Given the description of an element on the screen output the (x, y) to click on. 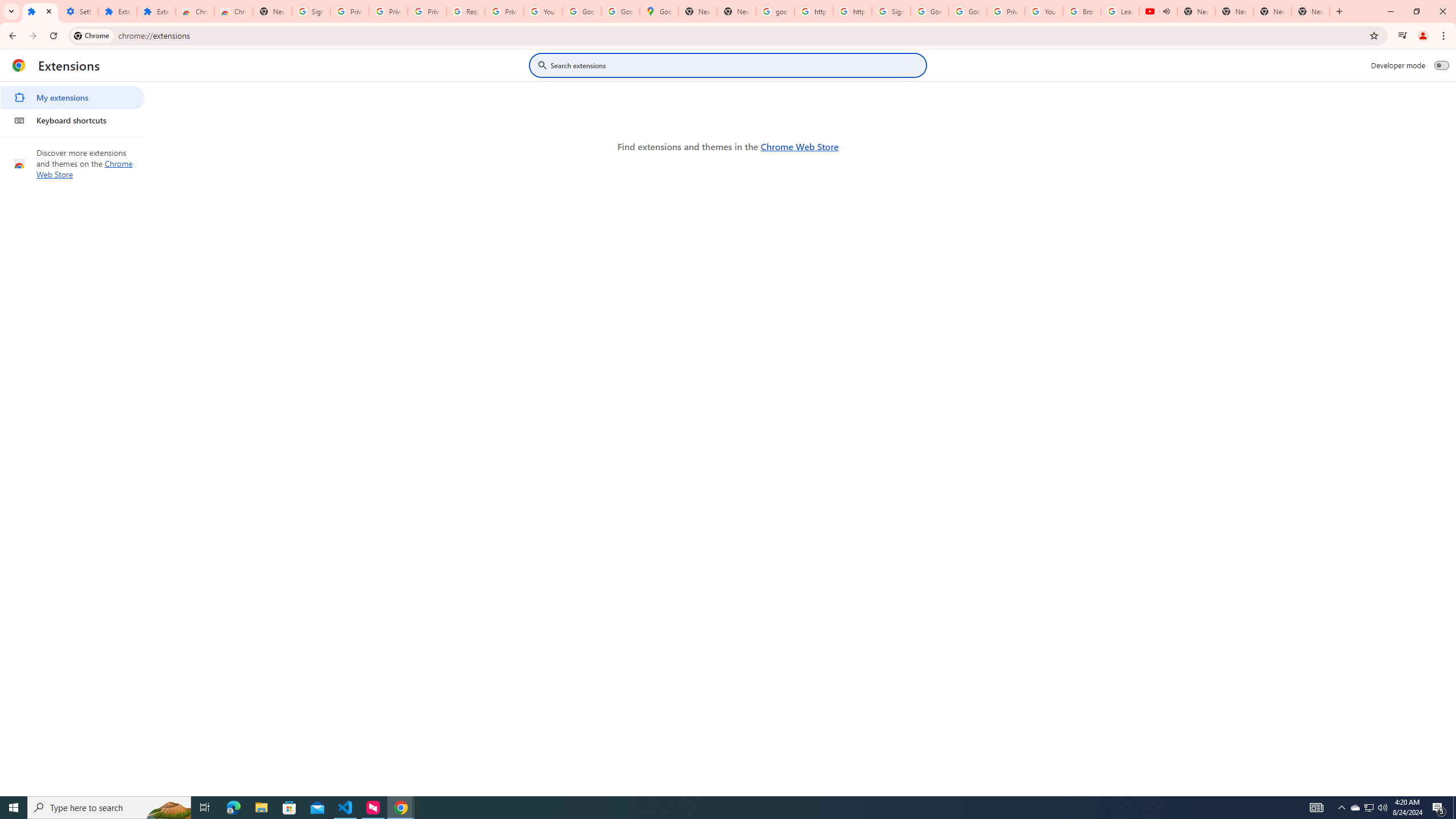
Extensions (117, 11)
Google Maps (659, 11)
